Given the description of an element on the screen output the (x, y) to click on. 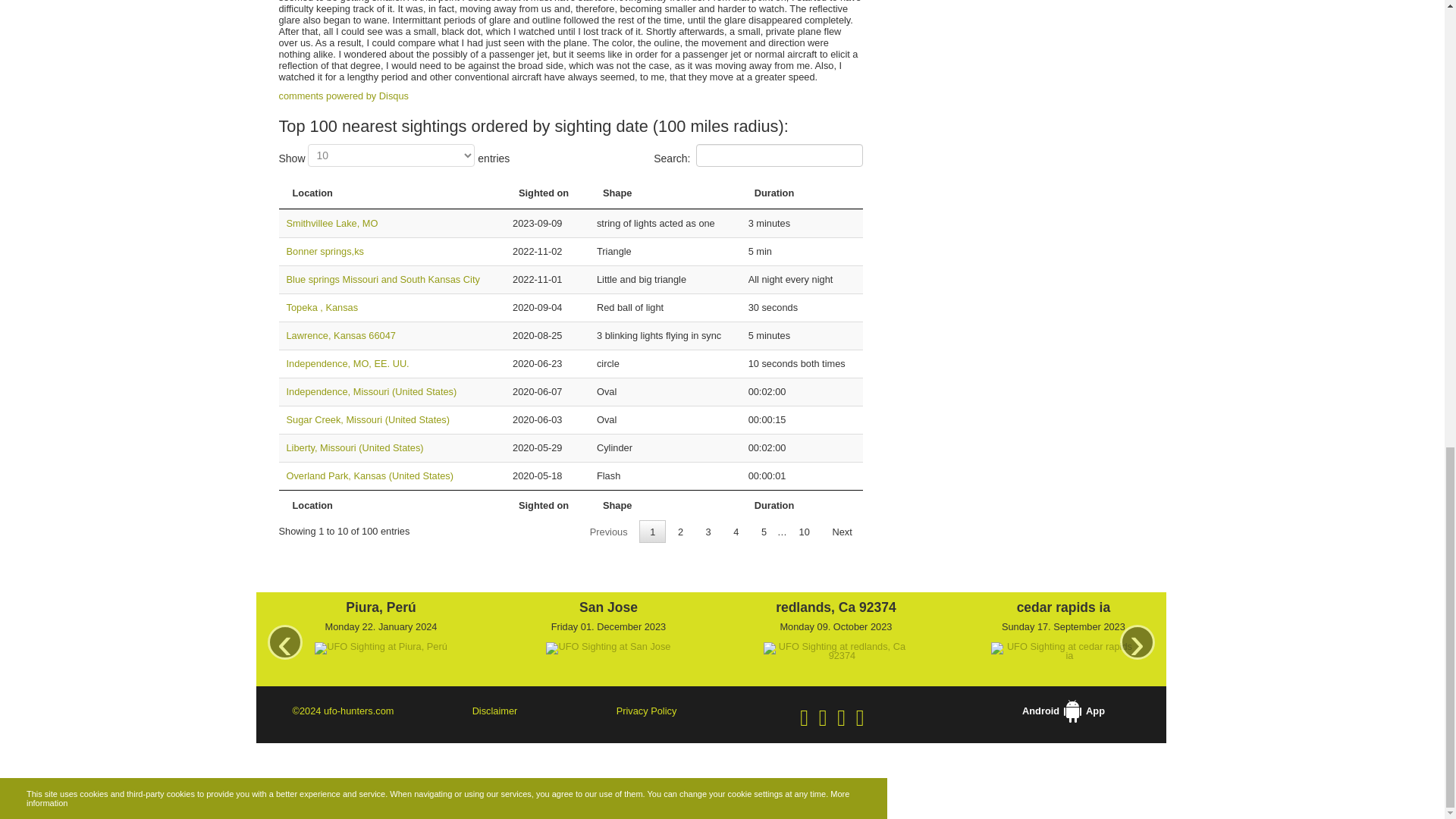
Bonner springs,ks (325, 251)
Independence, MO, EE. UU. (347, 363)
Topeka , Kansas (322, 307)
Blue springs Missouri and South Kansas City (383, 279)
Lawrence, Kansas 66047 (341, 335)
redlands, Ca 92374 (835, 607)
San Jose (607, 607)
Smithvillee Lake, MO (332, 223)
comments powered by Disqus (344, 95)
cedar rapids ia (1063, 607)
